Given the description of an element on the screen output the (x, y) to click on. 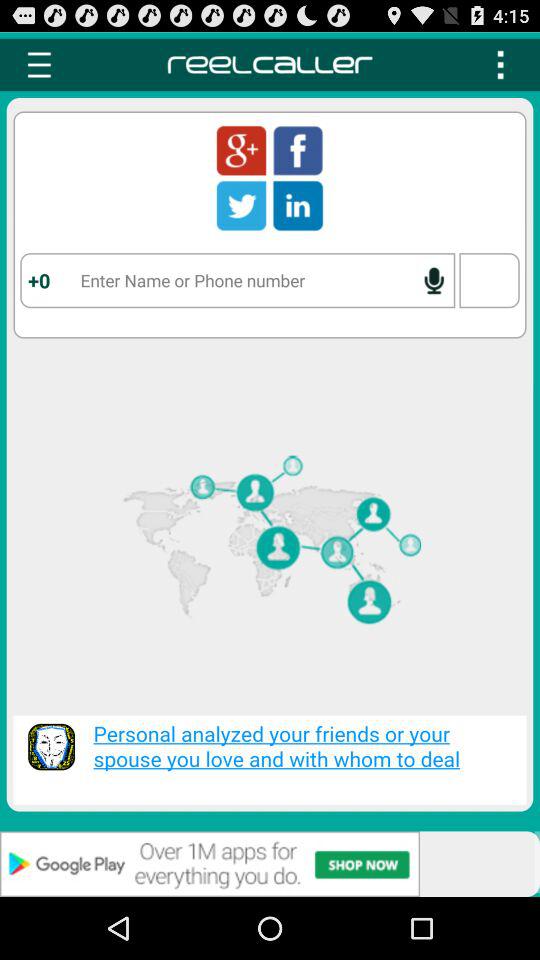
go to settings (500, 64)
